Given the description of an element on the screen output the (x, y) to click on. 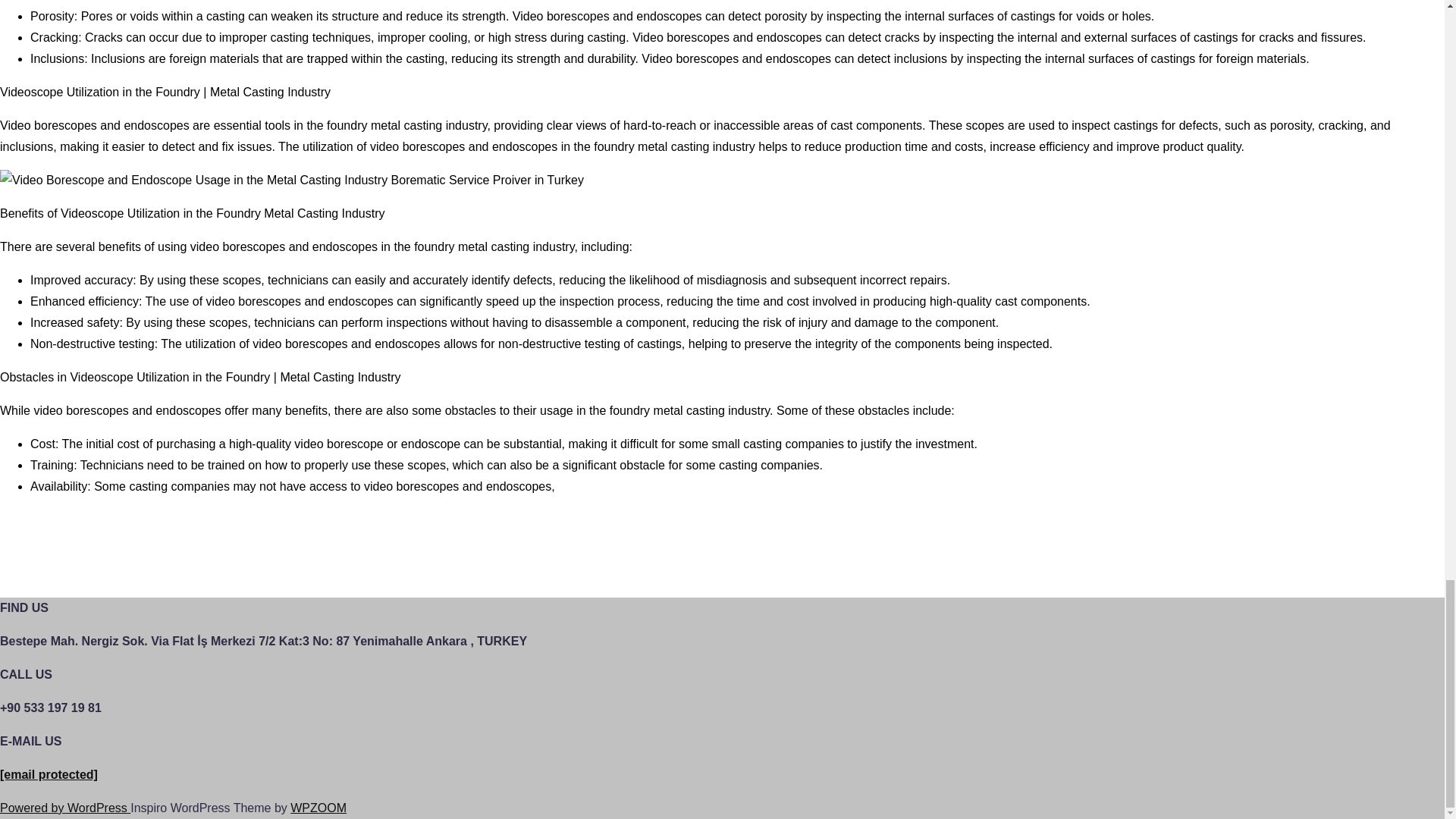
WPZOOM (317, 807)
Powered by WordPress (65, 807)
